Given the description of an element on the screen output the (x, y) to click on. 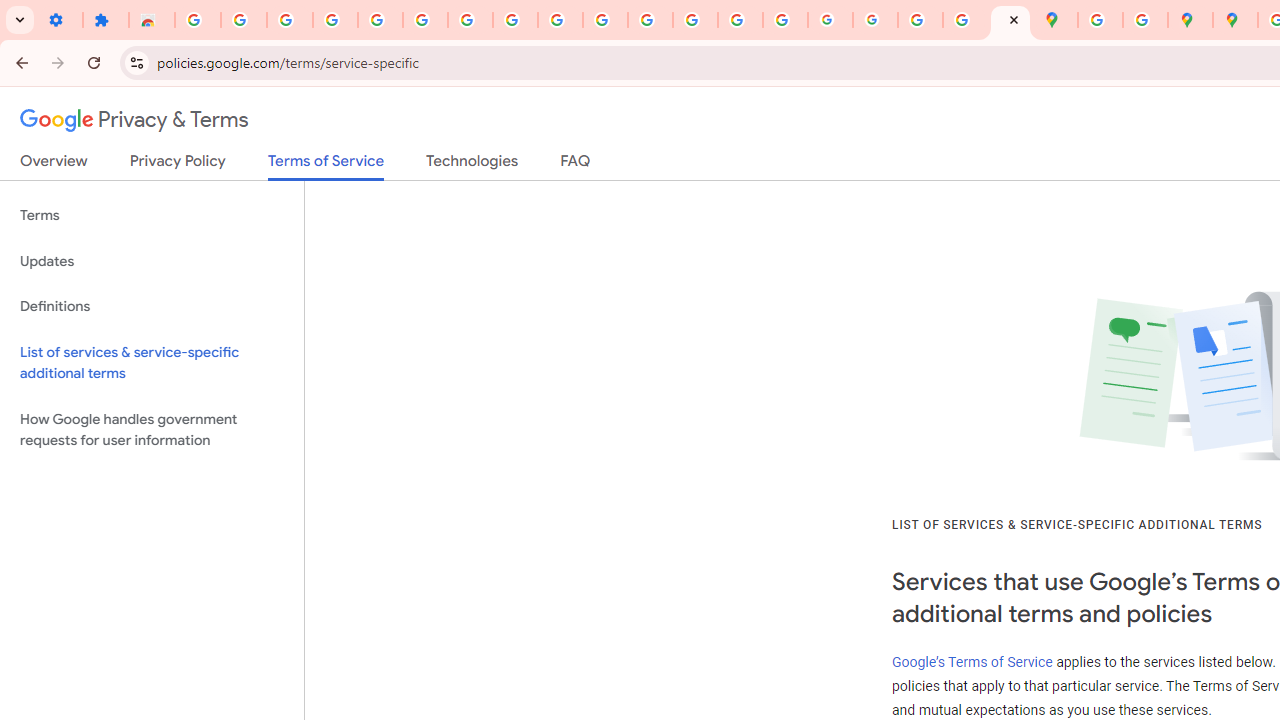
YouTube (559, 20)
Google Account (514, 20)
How Google handles government requests for user information (152, 429)
